Given the description of an element on the screen output the (x, y) to click on. 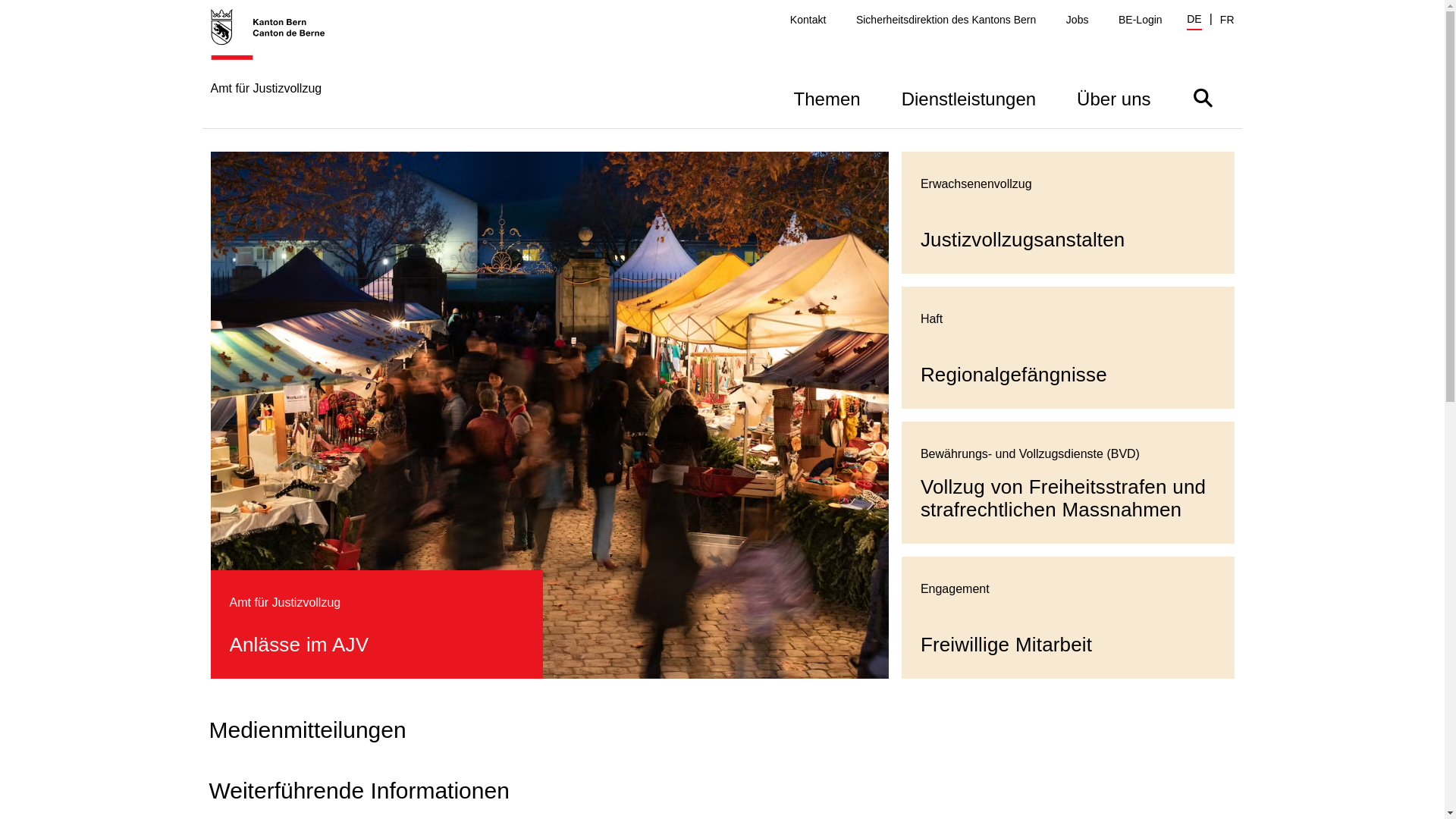
BE-Login Element type: text (1140, 19)
FR Element type: text (1227, 19)
DE Element type: text (1193, 21)
Sicherheitsdirektion des Kantons Bern Element type: text (945, 19)
Suche ein- oder ausblenden Element type: text (1201, 96)
Justizvollzugsanstalten 
Erwachsenenvollzug Element type: text (1067, 212)
Freiwillige Mitarbeit
Engagement Element type: text (1067, 617)
Dienstleistungen Element type: text (968, 96)
Jobs Element type: text (1077, 19)
Themen Element type: text (827, 96)
Kontakt Element type: text (807, 19)
